Given the description of an element on the screen output the (x, y) to click on. 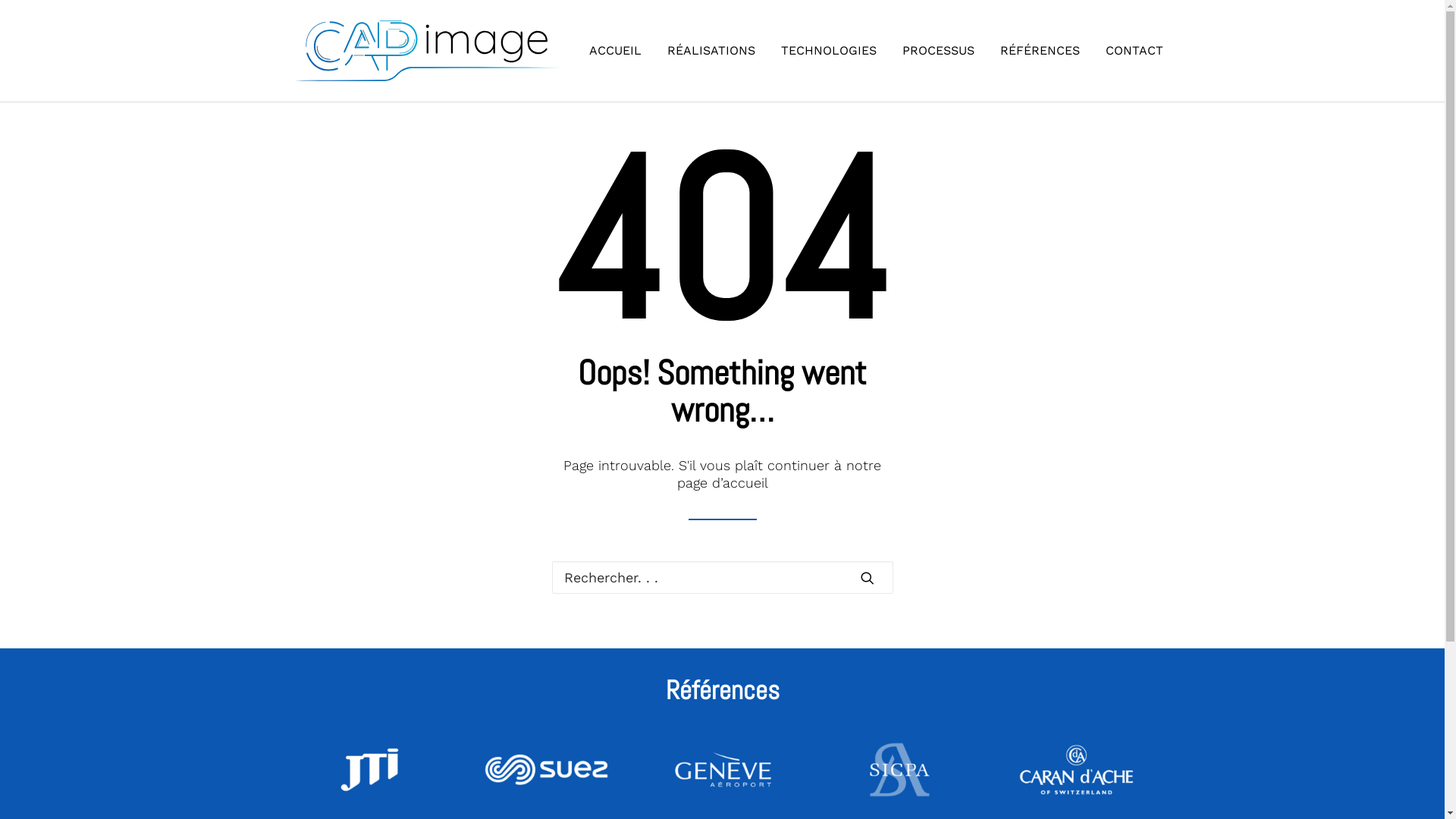
CONTACT Element type: text (1129, 50)
TECHNOLOGIES Element type: text (828, 50)
ACCUEIL Element type: text (620, 50)
PROCESSUS Element type: text (938, 50)
Recherche pour : Element type: hover (722, 577)
